Given the description of an element on the screen output the (x, y) to click on. 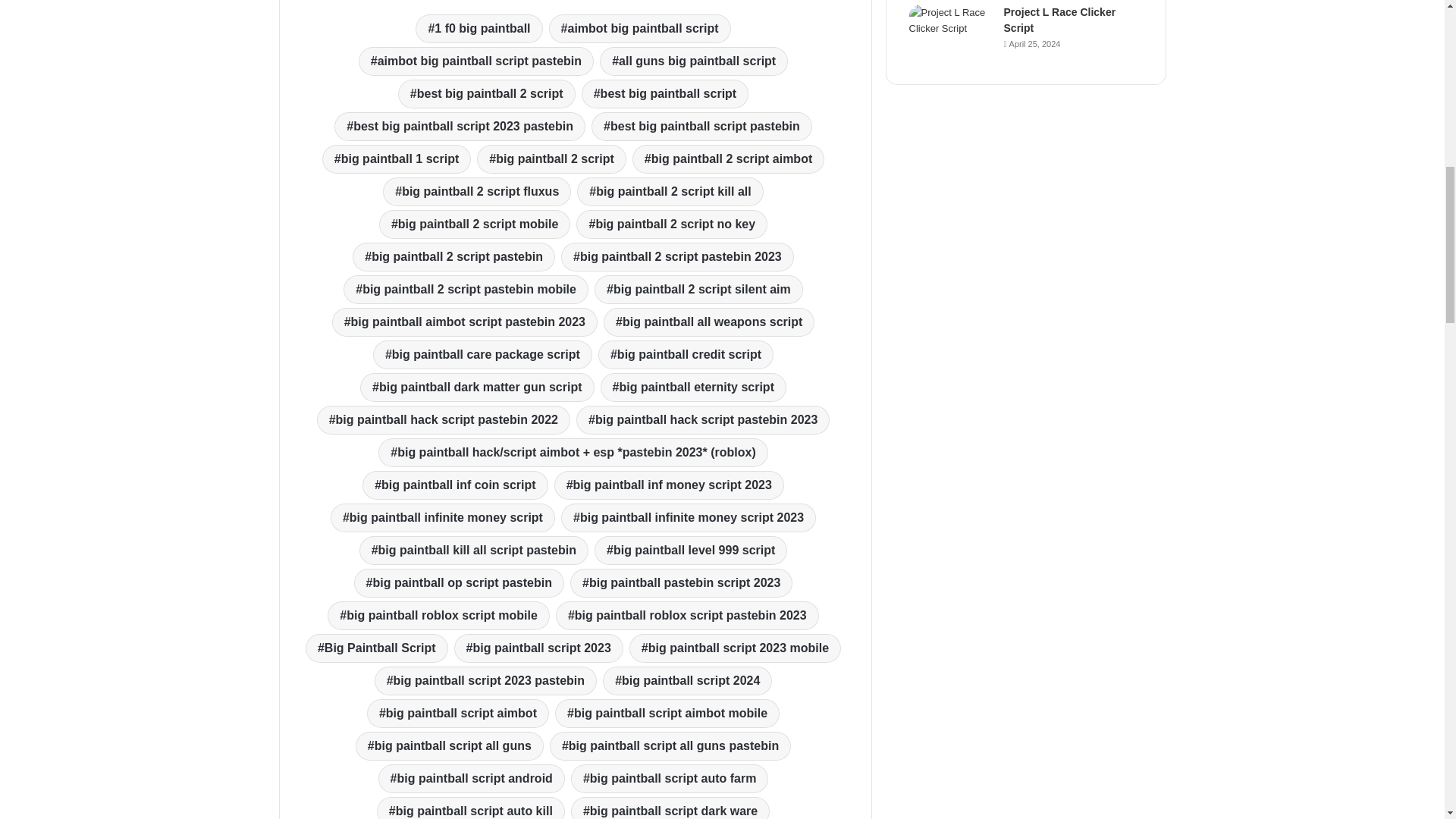
big paintball 1 script (395, 158)
aimbot big paintball script pastebin (476, 61)
big paintball 2 script (551, 158)
best big paintball 2 script (486, 93)
big paintball dark matter gun script (476, 387)
aimbot big paintball script (639, 28)
big paintball all weapons script (708, 321)
big paintball 2 script kill all (669, 191)
best big paintball script (664, 93)
big paintball 2 script no key (671, 224)
big paintball 2 script mobile (474, 224)
big paintball 2 script pastebin 2023 (676, 256)
big paintball aimbot script pastebin 2023 (463, 321)
big paintball 2 script pastebin mobile (465, 289)
big paintball care package script (482, 354)
